Given the description of an element on the screen output the (x, y) to click on. 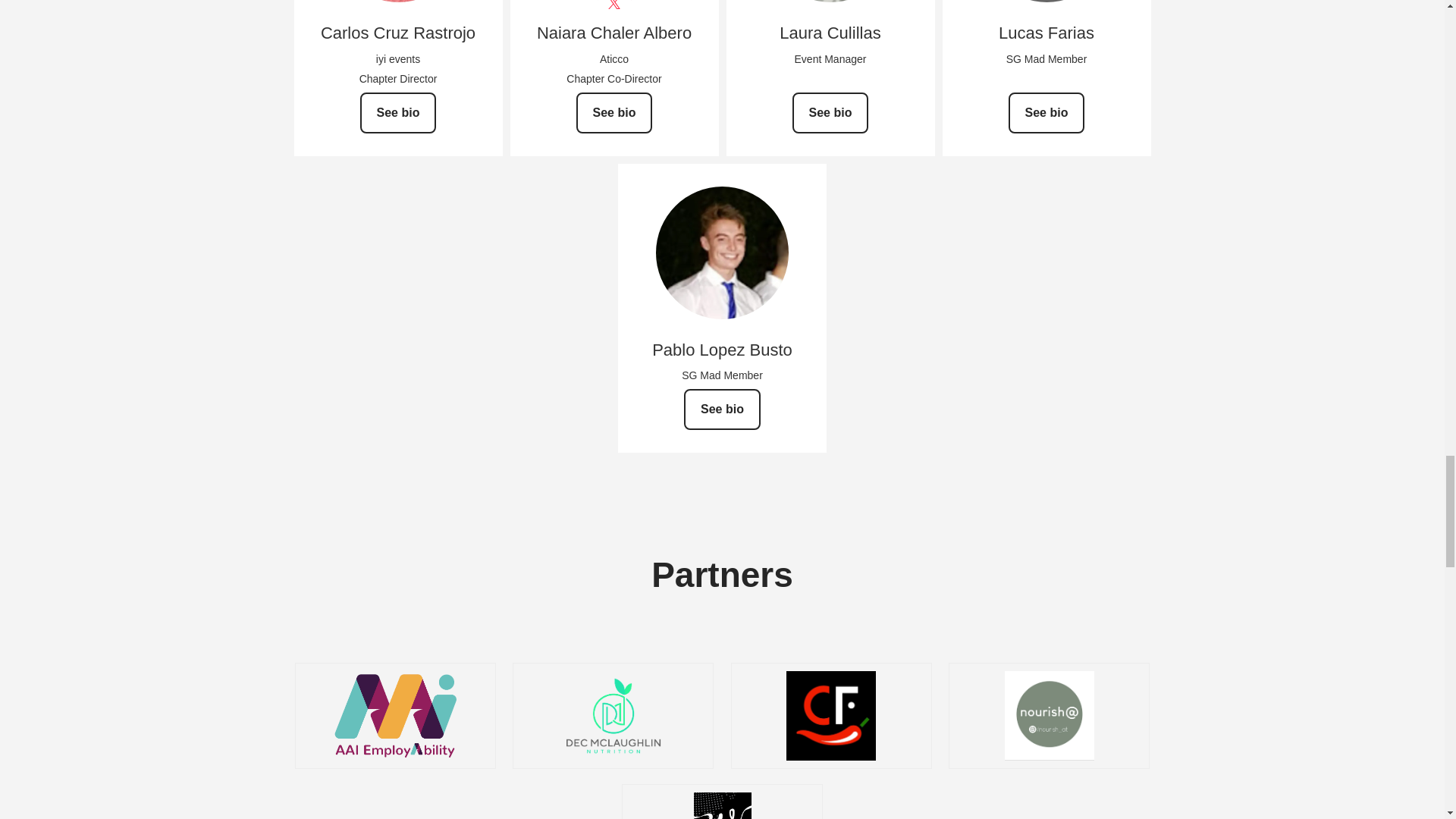
Custom Flavour (831, 715)
AAIEmployAbility (394, 715)
DM Nutrition (612, 715)
wippd (722, 805)
